Given the description of an element on the screen output the (x, y) to click on. 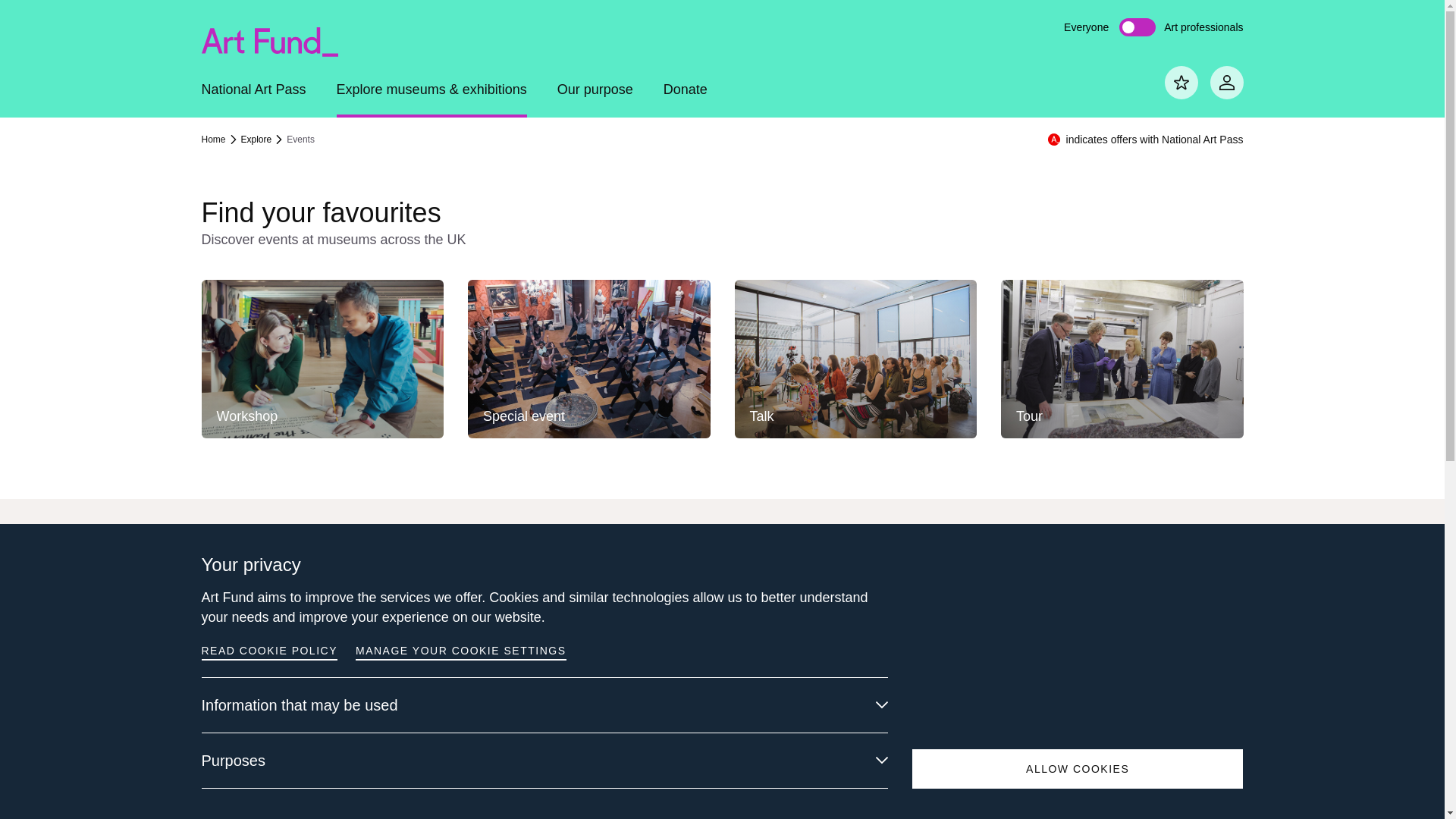
Workshop (323, 359)
Home (220, 139)
My lists (1181, 82)
Explore (262, 139)
Tour (1122, 359)
Talk (854, 359)
Donate (685, 98)
Special event (588, 359)
National Art Pass (253, 98)
